Given the description of an element on the screen output the (x, y) to click on. 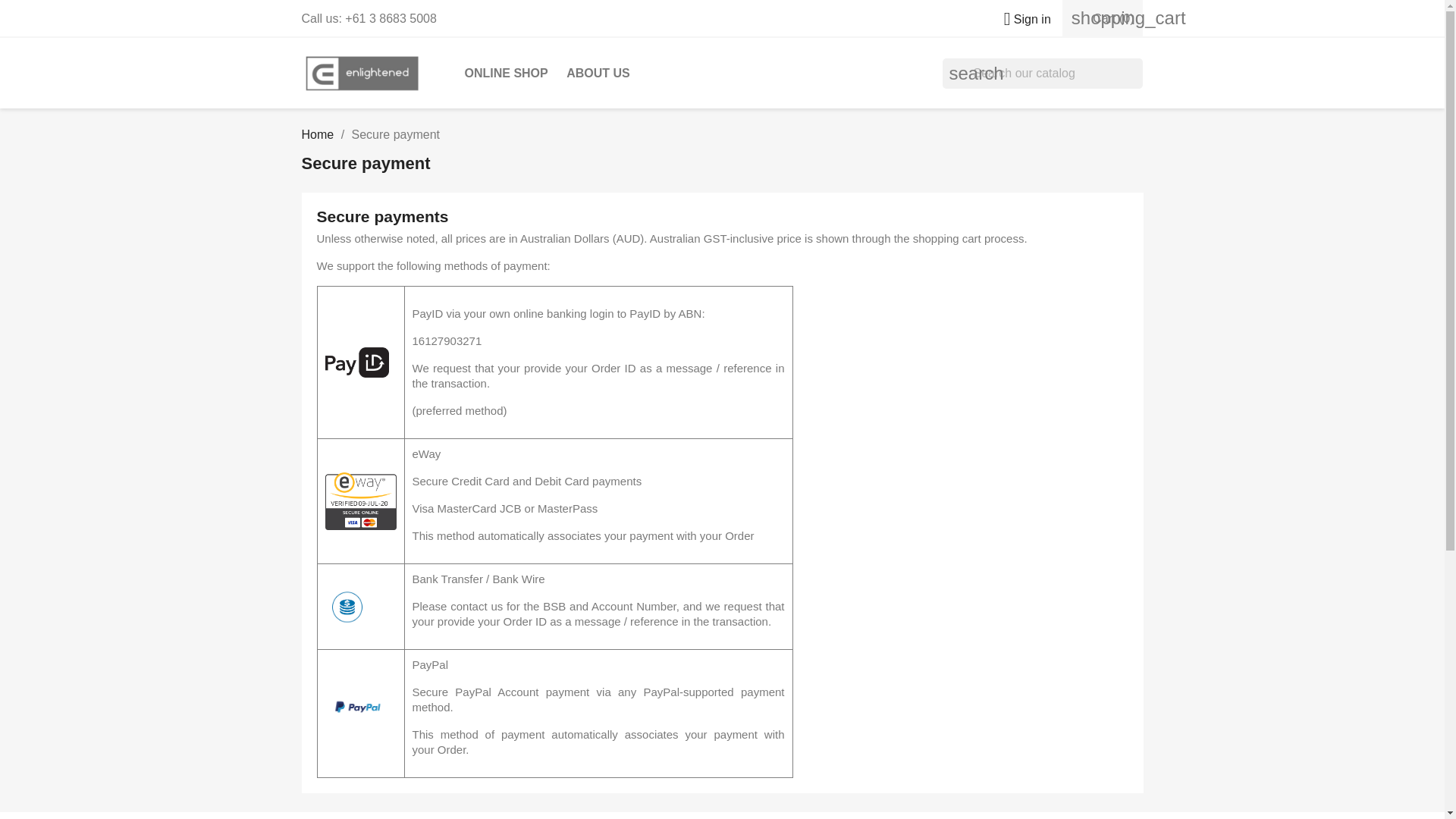
Home (317, 133)
ABOUT US (598, 73)
ONLINE SHOP (505, 73)
Log in to your customer account (1020, 19)
